Given the description of an element on the screen output the (x, y) to click on. 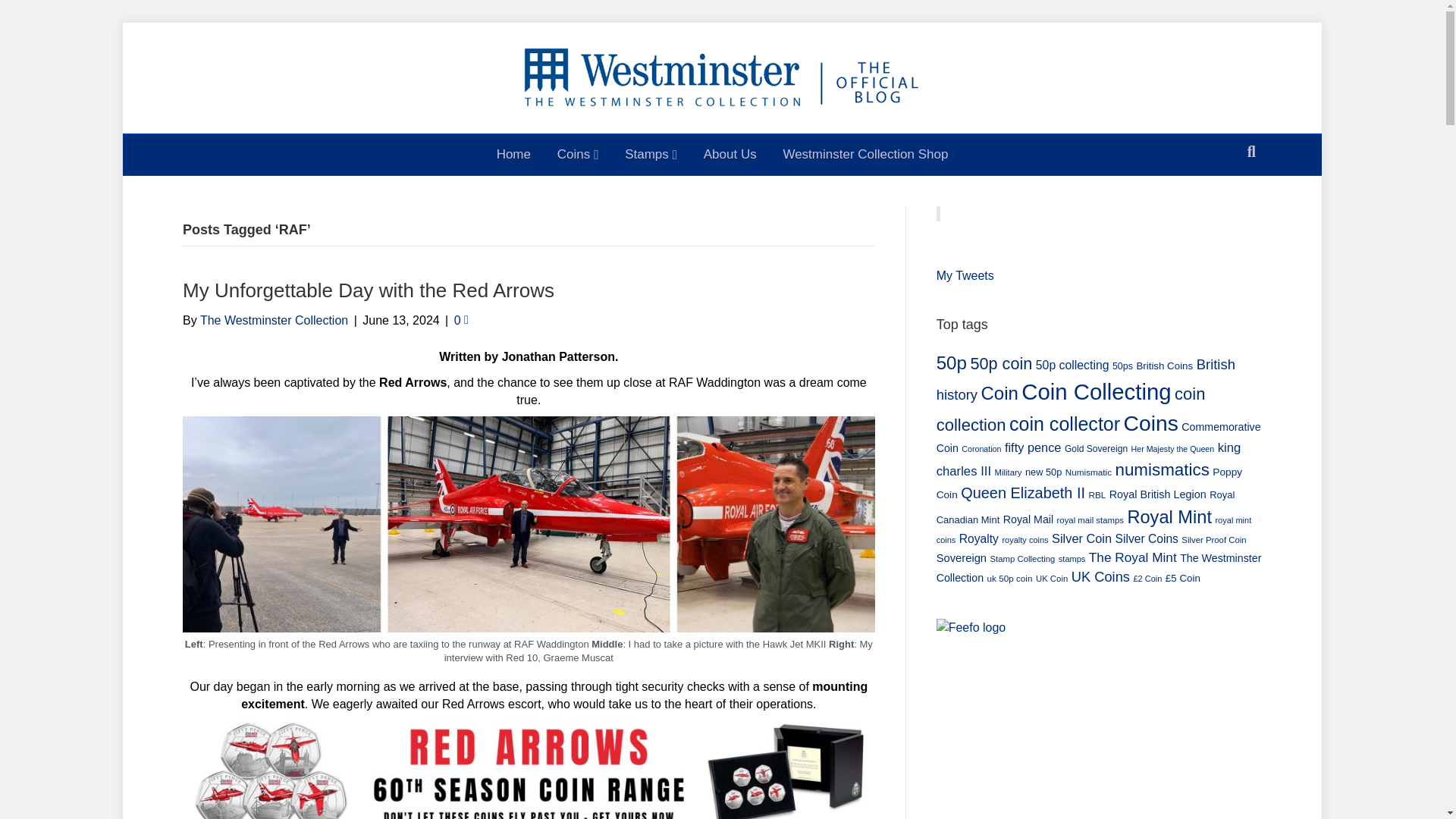
About Us (730, 154)
Coins (578, 154)
Westminster Collection Shop (865, 154)
Stamps (650, 154)
My Unforgettable Day with the Red Arrows (529, 770)
The Westminster Collection (273, 319)
Home (512, 154)
0 (461, 319)
My Unforgettable Day with the Red Arrows (368, 290)
